Given the description of an element on the screen output the (x, y) to click on. 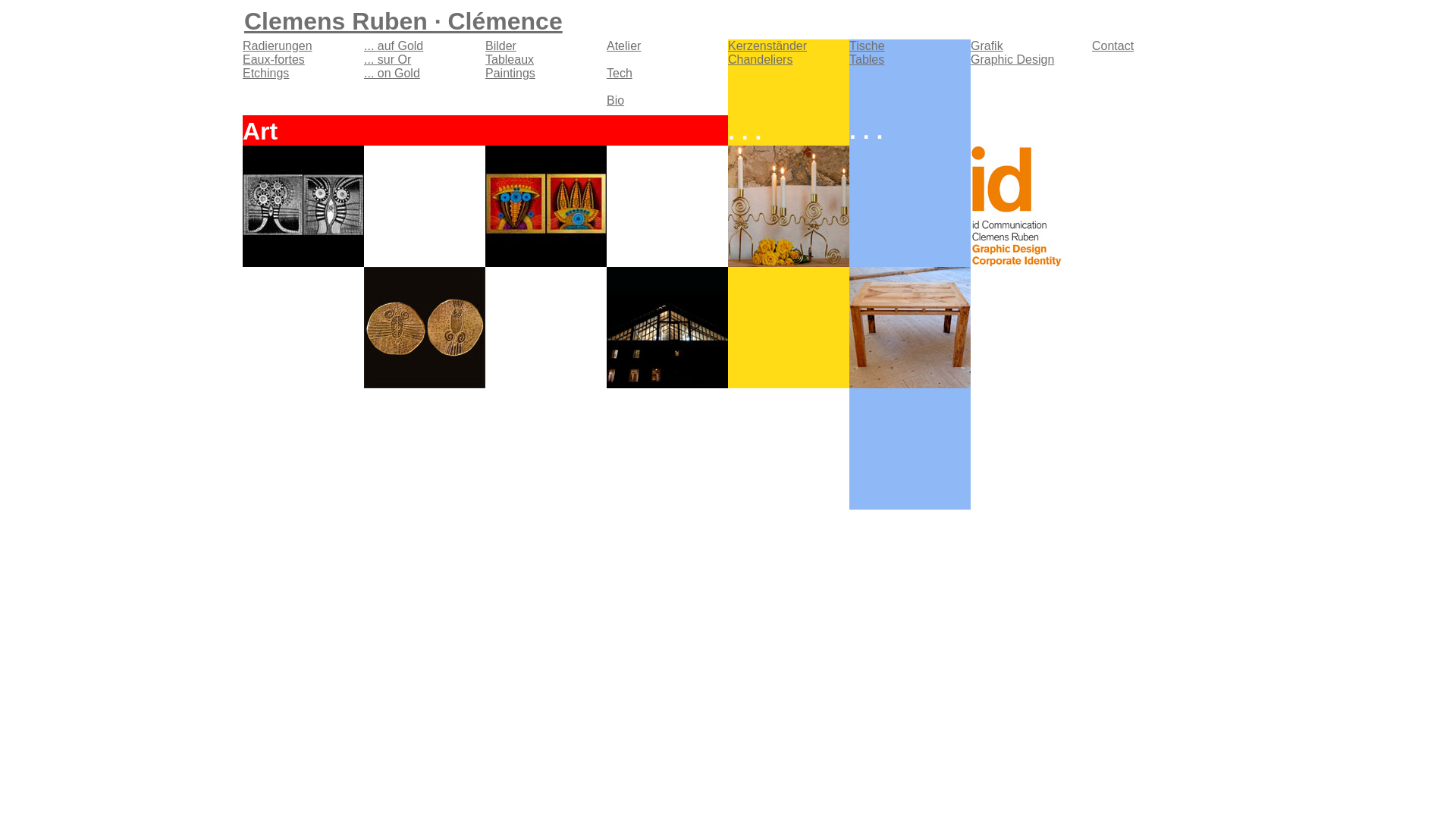
Grafik
Graphic Design Element type: text (1012, 52)
Atelier Element type: text (623, 52)
Tech Element type: text (619, 72)
Bio Element type: text (615, 100)
Radierungen
Eaux-fortes
Etchings Element type: text (277, 59)
... auf Gold
... sur Or
... on Gold Element type: text (393, 59)
Contact Element type: text (1112, 45)
Tische
Tables Element type: text (866, 52)
Bilder
Tableaux
Paintings Element type: text (510, 59)
